Given the description of an element on the screen output the (x, y) to click on. 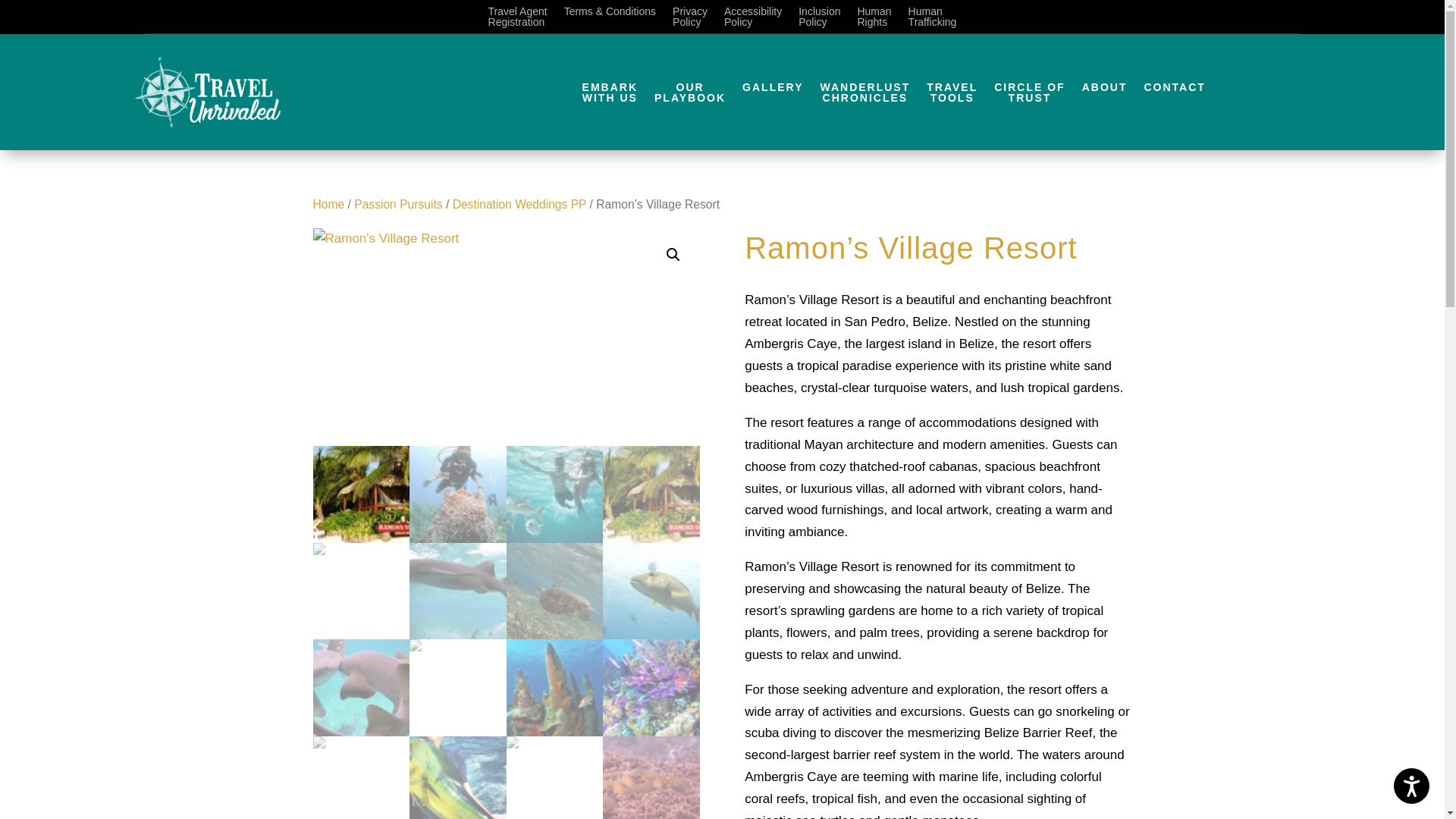
Open Accessibility Menu (689, 19)
ABOUT (1411, 785)
Passion Pursuits (609, 94)
Ramons-Honeymoon-Cabana-3-e1632152541853 (1103, 94)
GALLERY (397, 204)
lg-travel-unrivaled-rev-h (505, 336)
CONTACT (772, 94)
Destination Weddings PP (864, 94)
